Given the description of an element on the screen output the (x, y) to click on. 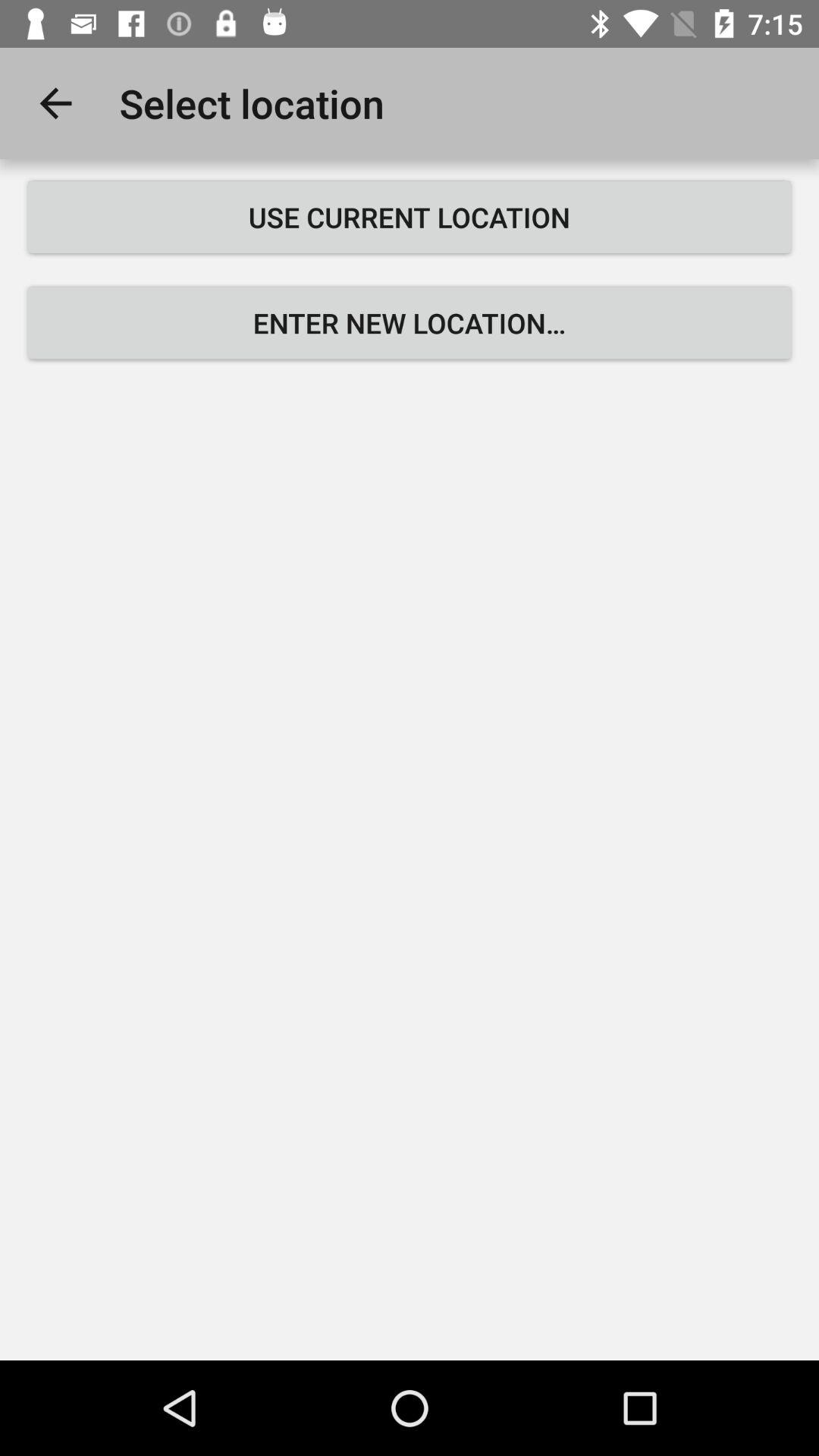
scroll to use current location (409, 217)
